Given the description of an element on the screen output the (x, y) to click on. 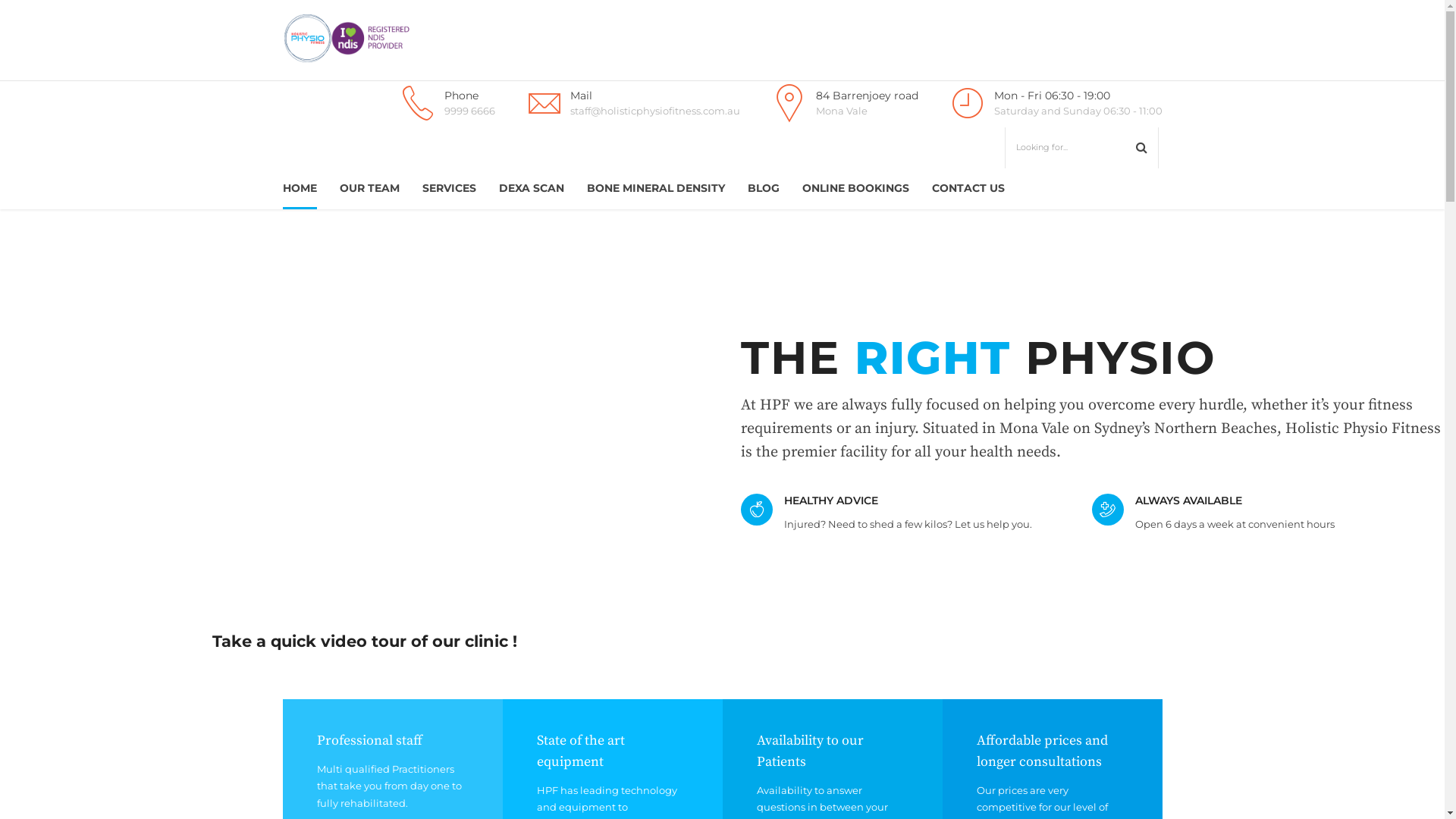
BONE MINERAL DENSITY Element type: text (655, 188)
OUR TEAM Element type: text (369, 188)
CONTACT US Element type: text (967, 188)
Phone
9999 6666 Element type: text (445, 102)
BLOG Element type: text (763, 188)
ONLINE BOOKINGS Element type: text (855, 188)
SERVICES Element type: text (448, 188)
84 Barrenjoey road
Mona Vale Element type: text (842, 102)
HOME Element type: text (299, 188)
Mail
staff@holisticphysiofitness.com.au Element type: text (630, 102)
YouTube video player Element type: hover (364, 424)
DEXA SCAN Element type: text (531, 188)
